Given the description of an element on the screen output the (x, y) to click on. 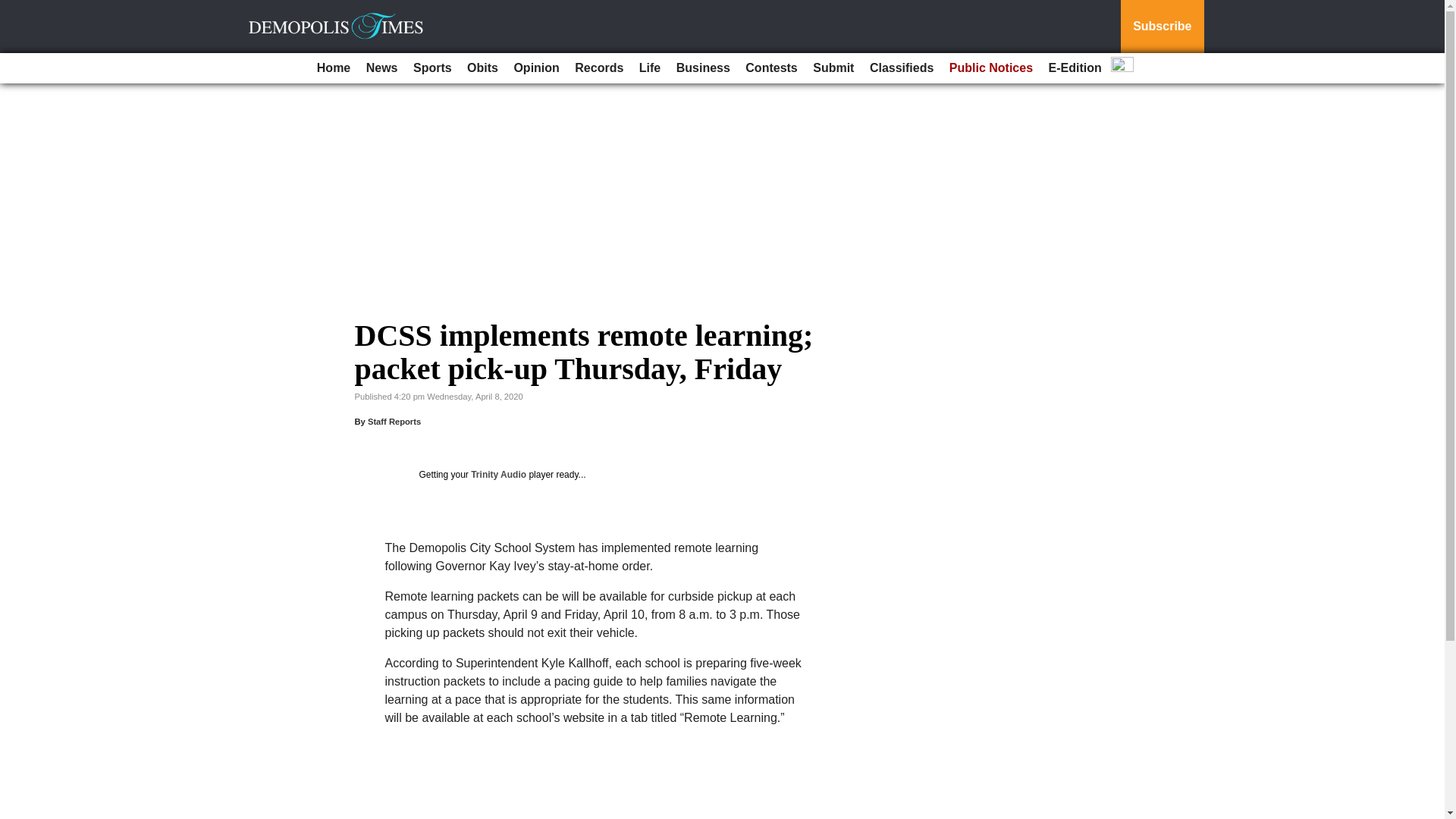
Subscribe (1162, 26)
News (381, 68)
E-Edition (1075, 68)
Trinity Audio (497, 474)
Go (13, 9)
Life (649, 68)
Obits (482, 68)
Public Notices (991, 68)
Submit (833, 68)
Home (333, 68)
Contests (771, 68)
Opinion (535, 68)
Staff Reports (394, 420)
Sports (432, 68)
Business (702, 68)
